Given the description of an element on the screen output the (x, y) to click on. 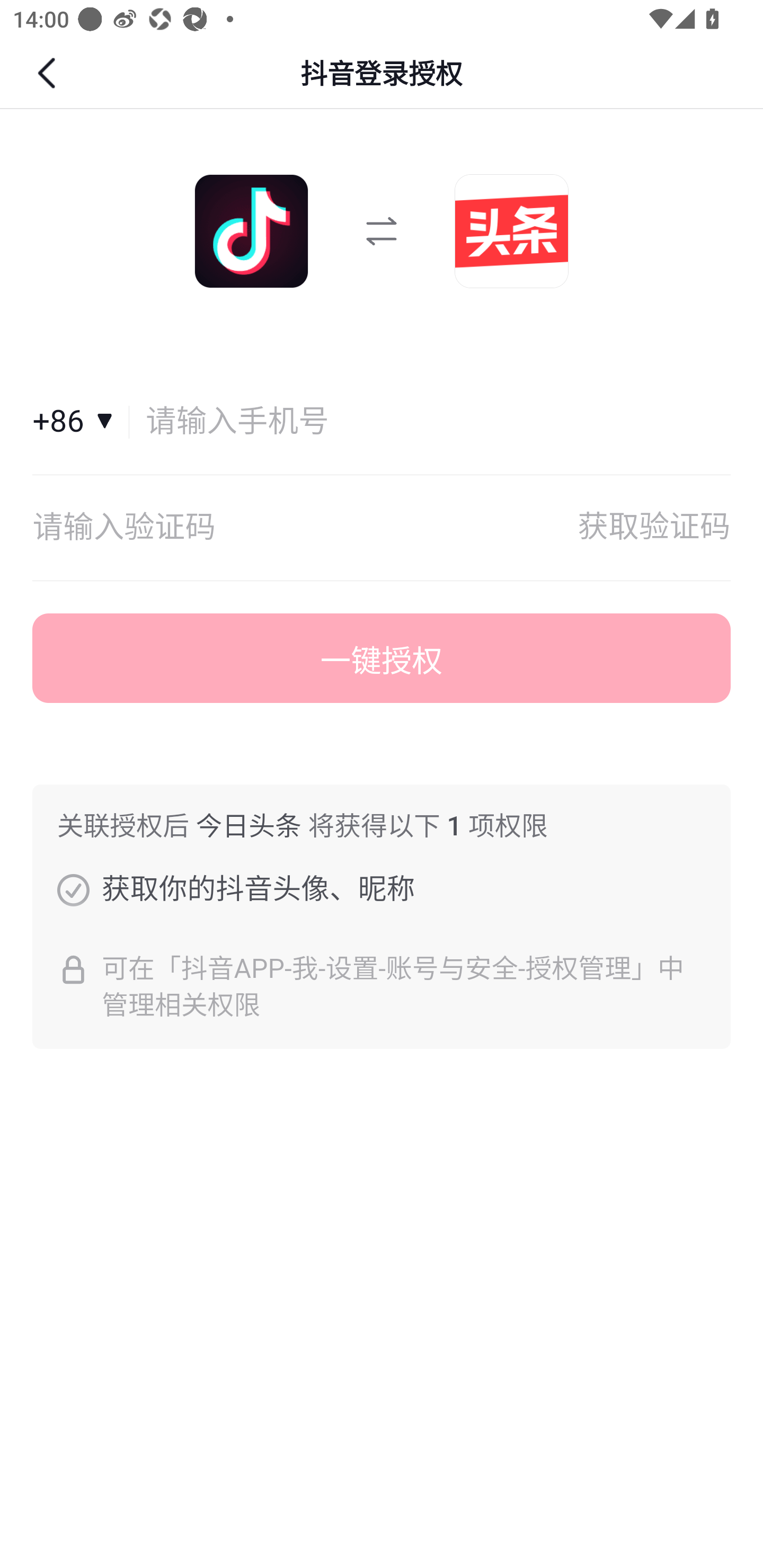
返回 (49, 72)
国家和地区+86 (81, 421)
获取验证码 (653, 527)
一键授权 (381, 658)
获取你的抖音头像、昵称 (72, 889)
